Given the description of an element on the screen output the (x, y) to click on. 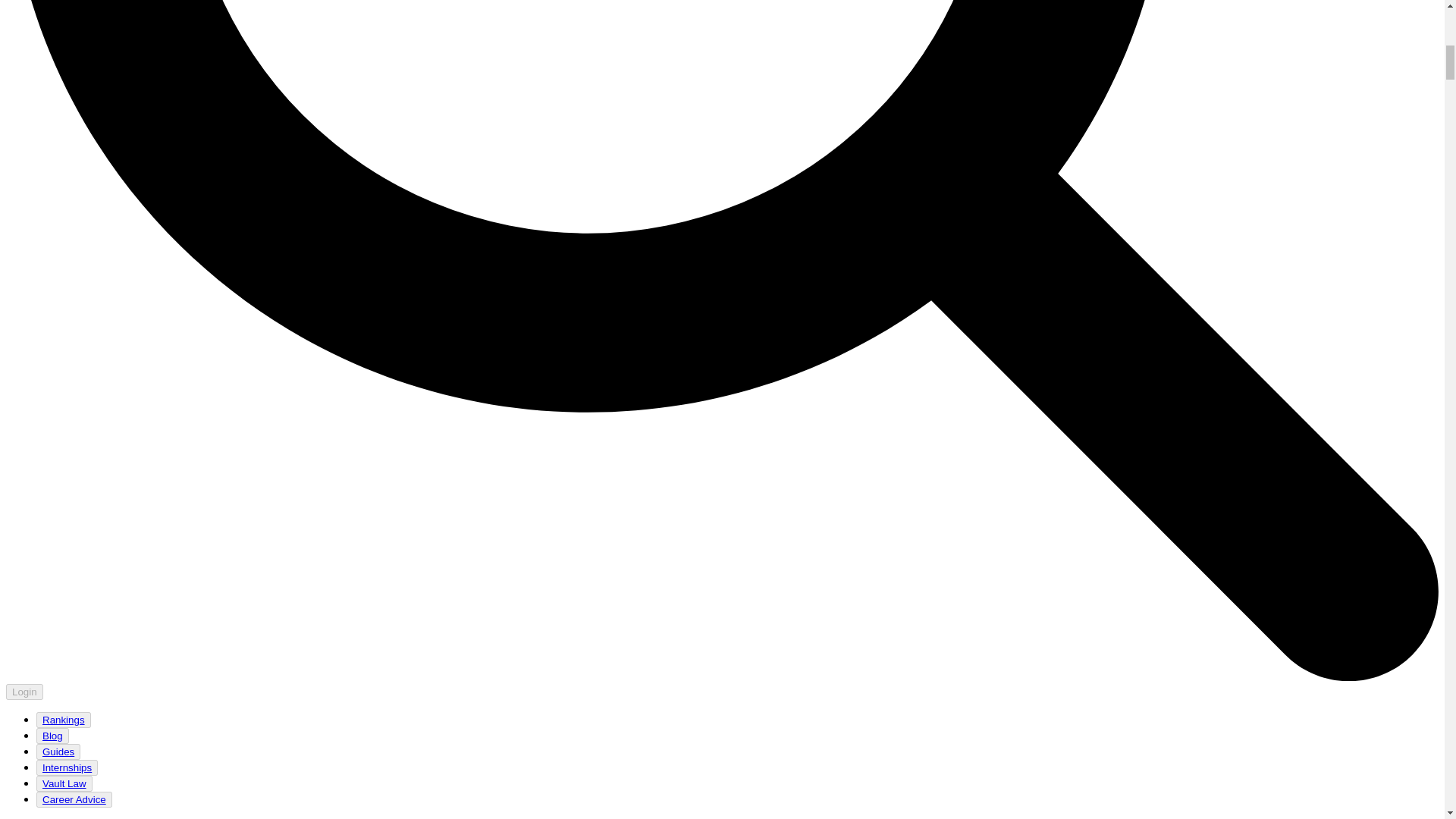
Guides (58, 751)
Login (24, 691)
Vault Law (63, 783)
Blog (52, 736)
Guides (58, 751)
Internships (66, 767)
Login (24, 690)
Career Advice (74, 799)
Internships (66, 767)
Career Advice (74, 799)
Vault Law (64, 783)
Rankings (63, 719)
Blog (52, 735)
Rankings (63, 719)
